Given the description of an element on the screen output the (x, y) to click on. 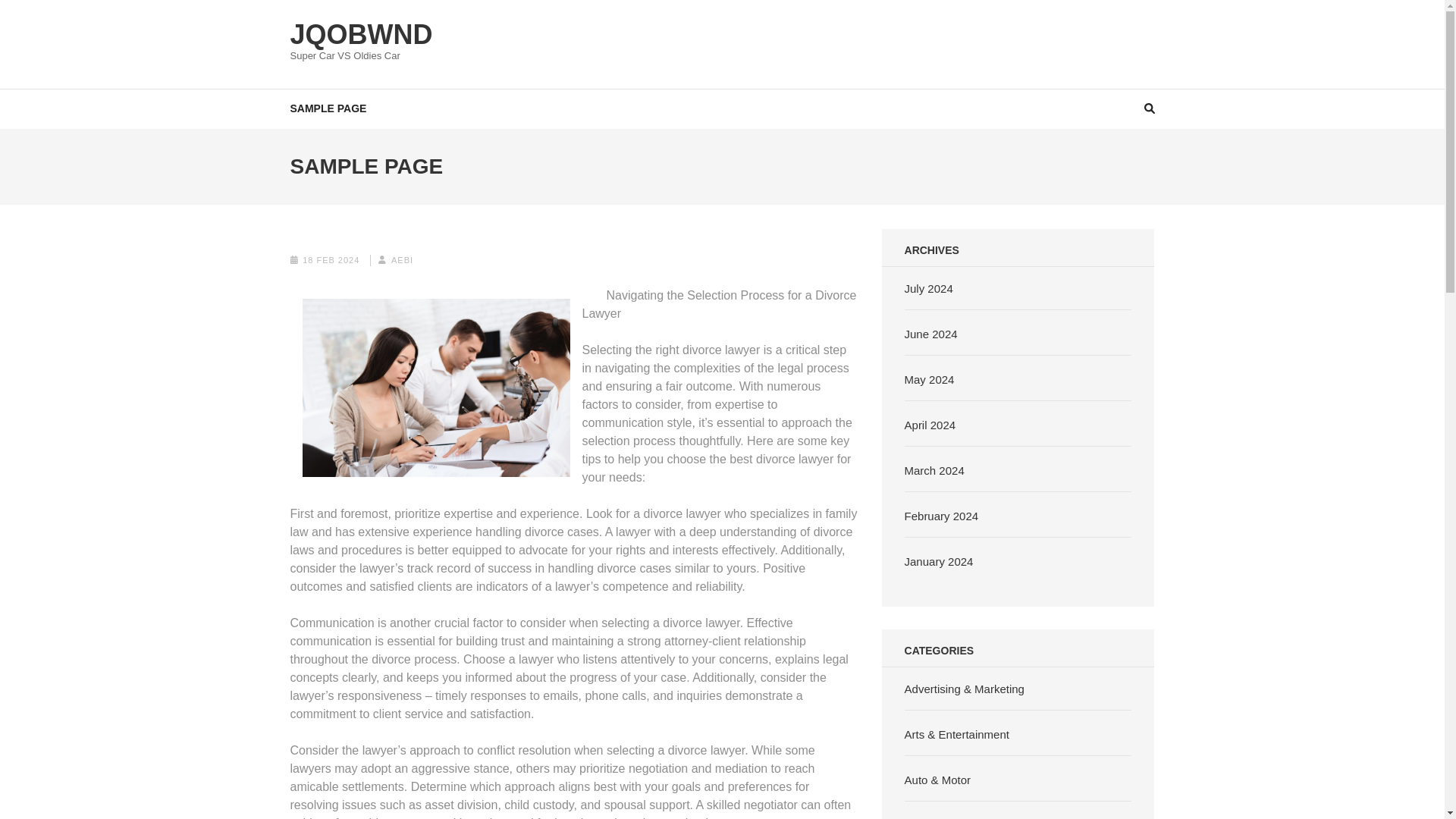
June 2024 (931, 333)
March 2024 (933, 470)
AEBI (402, 258)
February 2024 (941, 515)
May 2024 (929, 379)
SAMPLE PAGE (327, 108)
July 2024 (928, 287)
JQOBWND (360, 33)
18 FEB 2024 (330, 258)
January 2024 (939, 561)
April 2024 (930, 424)
